Given the description of an element on the screen output the (x, y) to click on. 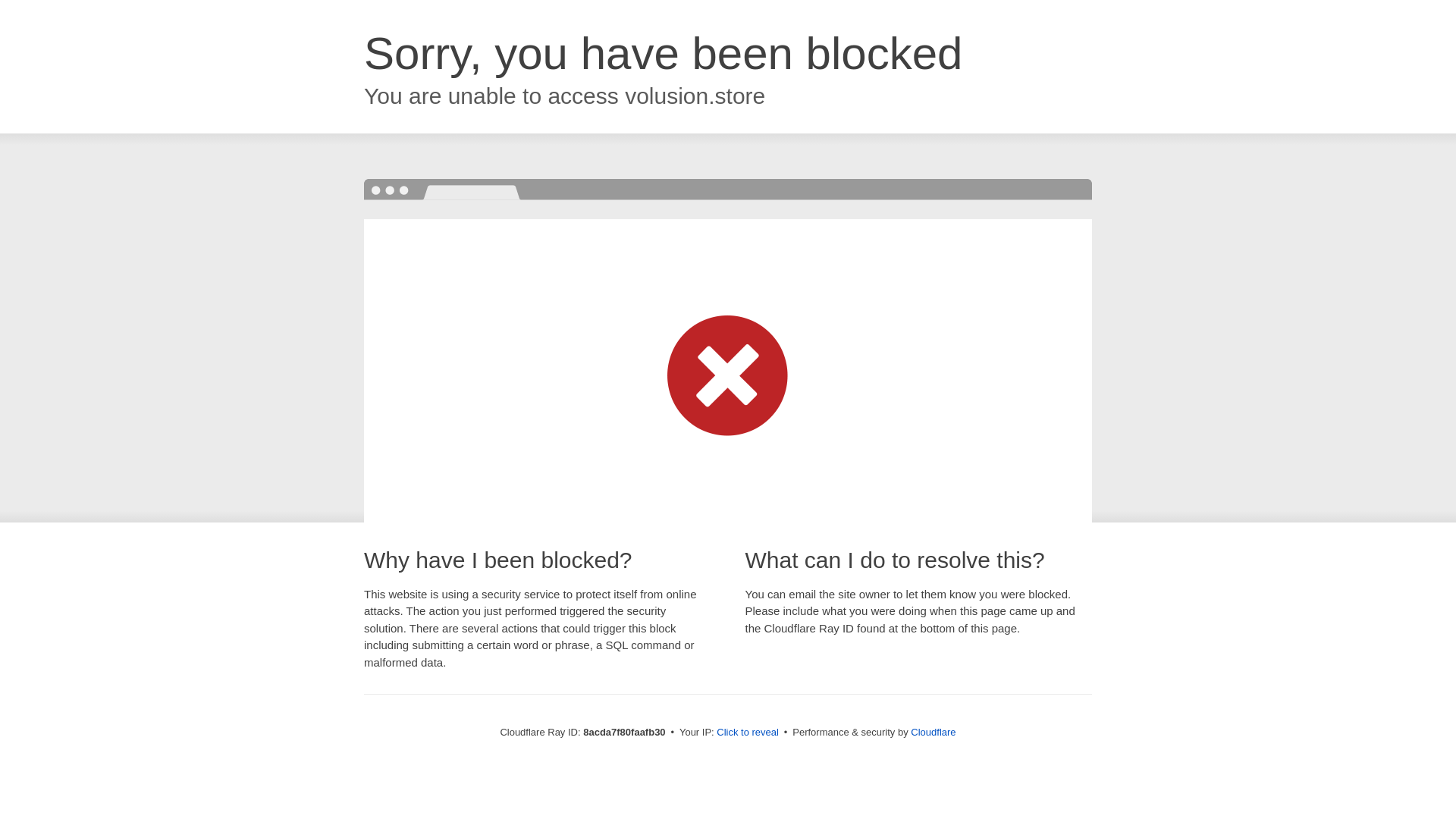
Click to reveal (747, 732)
Cloudflare (933, 731)
